Given the description of an element on the screen output the (x, y) to click on. 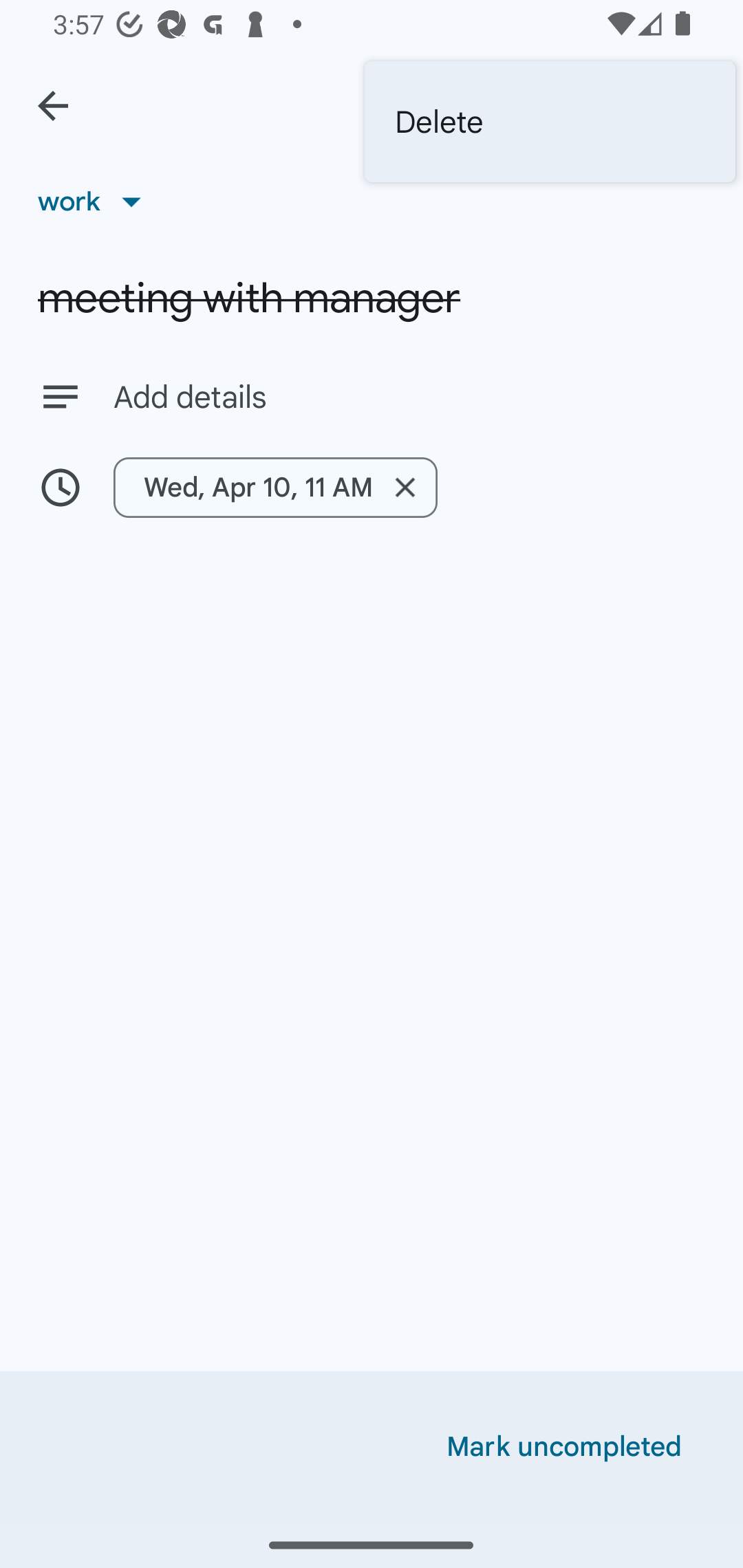
Delete (549, 121)
